Given the description of an element on the screen output the (x, y) to click on. 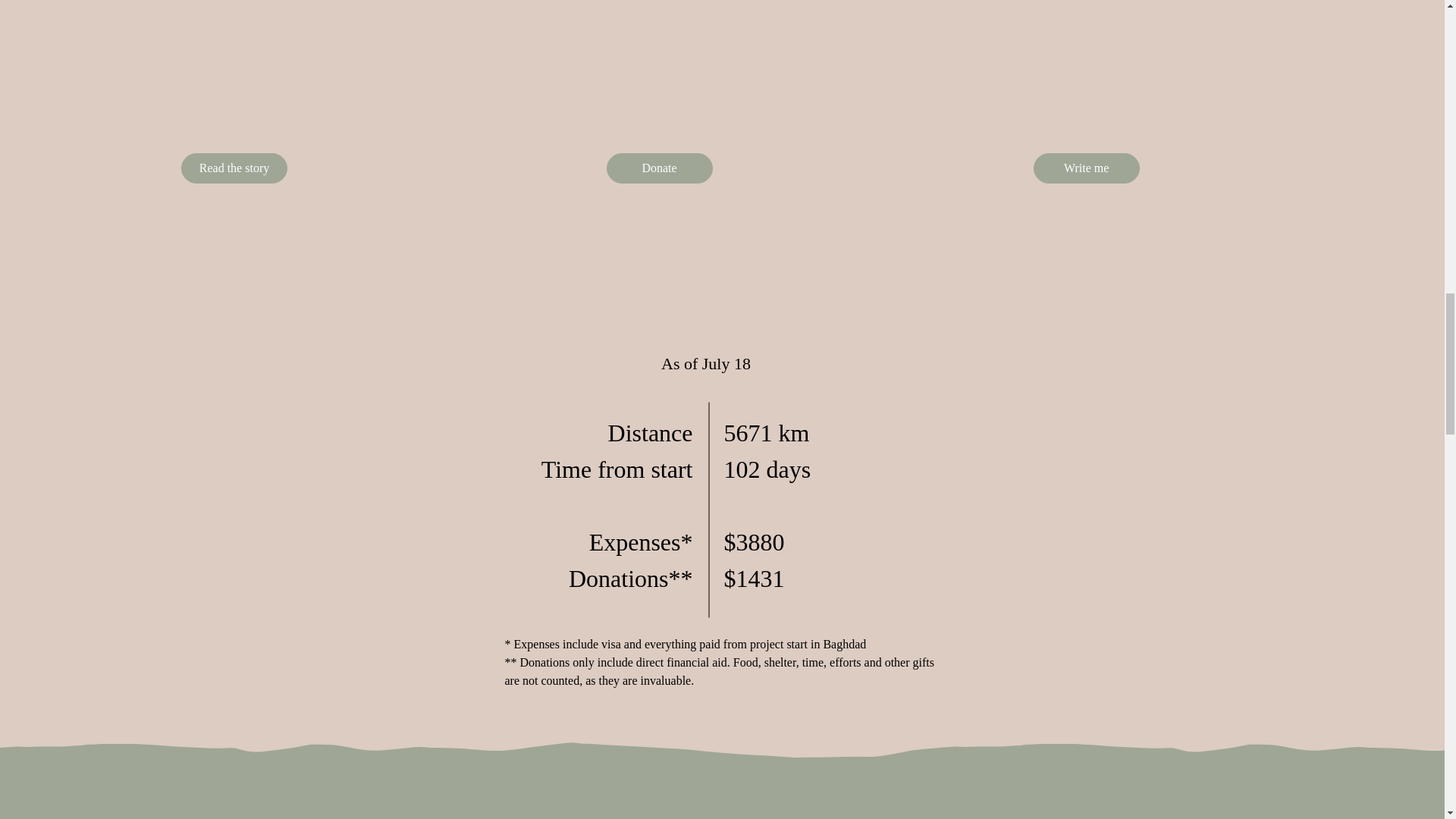
Donate (660, 168)
Read the story (233, 168)
Write me (1086, 168)
